Given the description of an element on the screen output the (x, y) to click on. 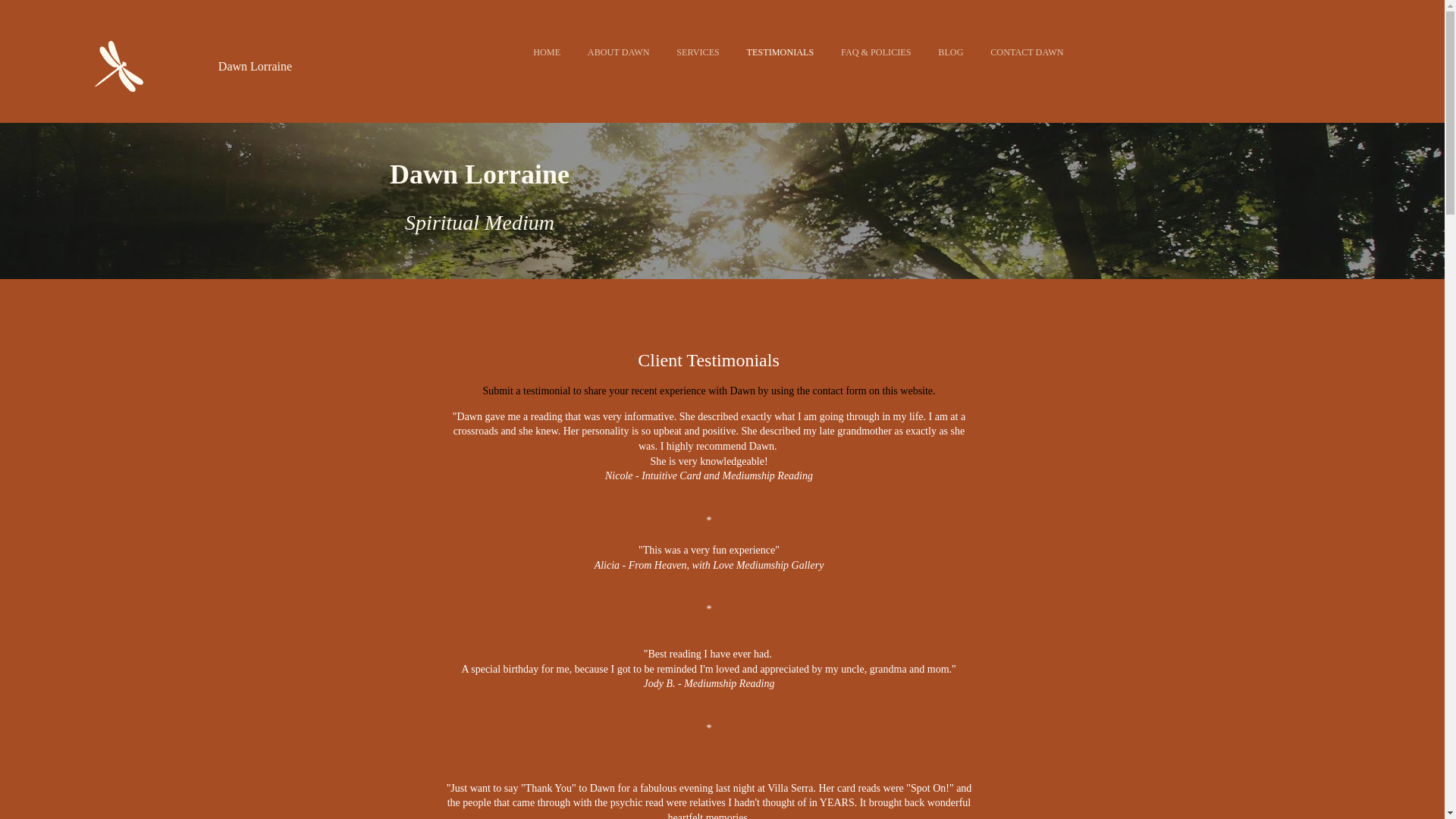
Dawn Lorraine (255, 67)
HOME (535, 51)
TESTIMONIALS (768, 51)
SERVICES (686, 51)
CONTACT DAWN (1015, 51)
ABOUT DAWN (606, 51)
BLOG (939, 51)
